Given the description of an element on the screen output the (x, y) to click on. 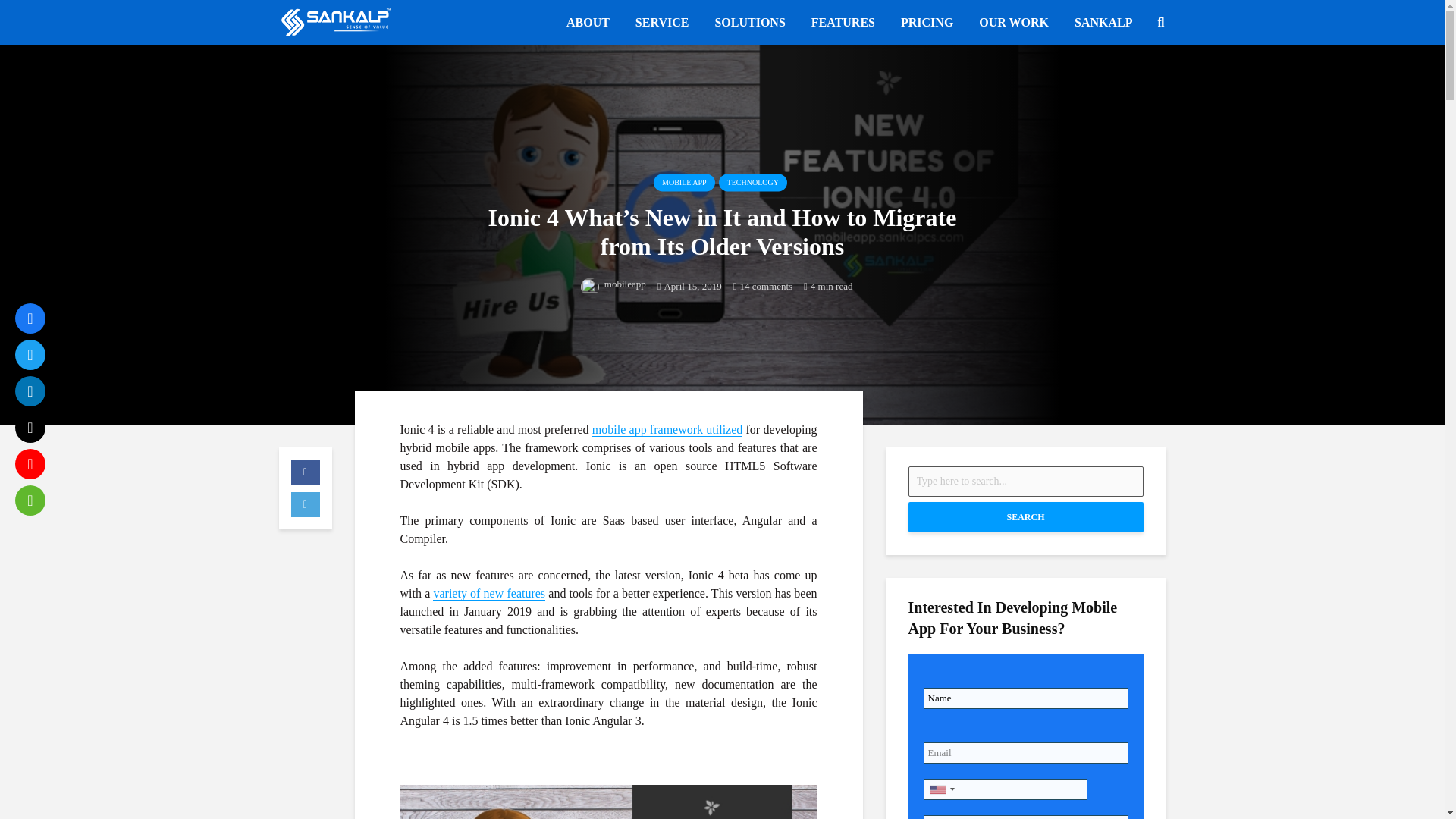
Facebook (29, 318)
Name (1025, 698)
ABOUT (587, 22)
FEATURES (842, 22)
SANKALP (1102, 22)
PRICING (926, 22)
Email (1025, 752)
OUR WORK (1013, 22)
Twitter (29, 354)
SOLUTIONS (749, 22)
SERVICE (662, 22)
Name (1025, 698)
